Given the description of an element on the screen output the (x, y) to click on. 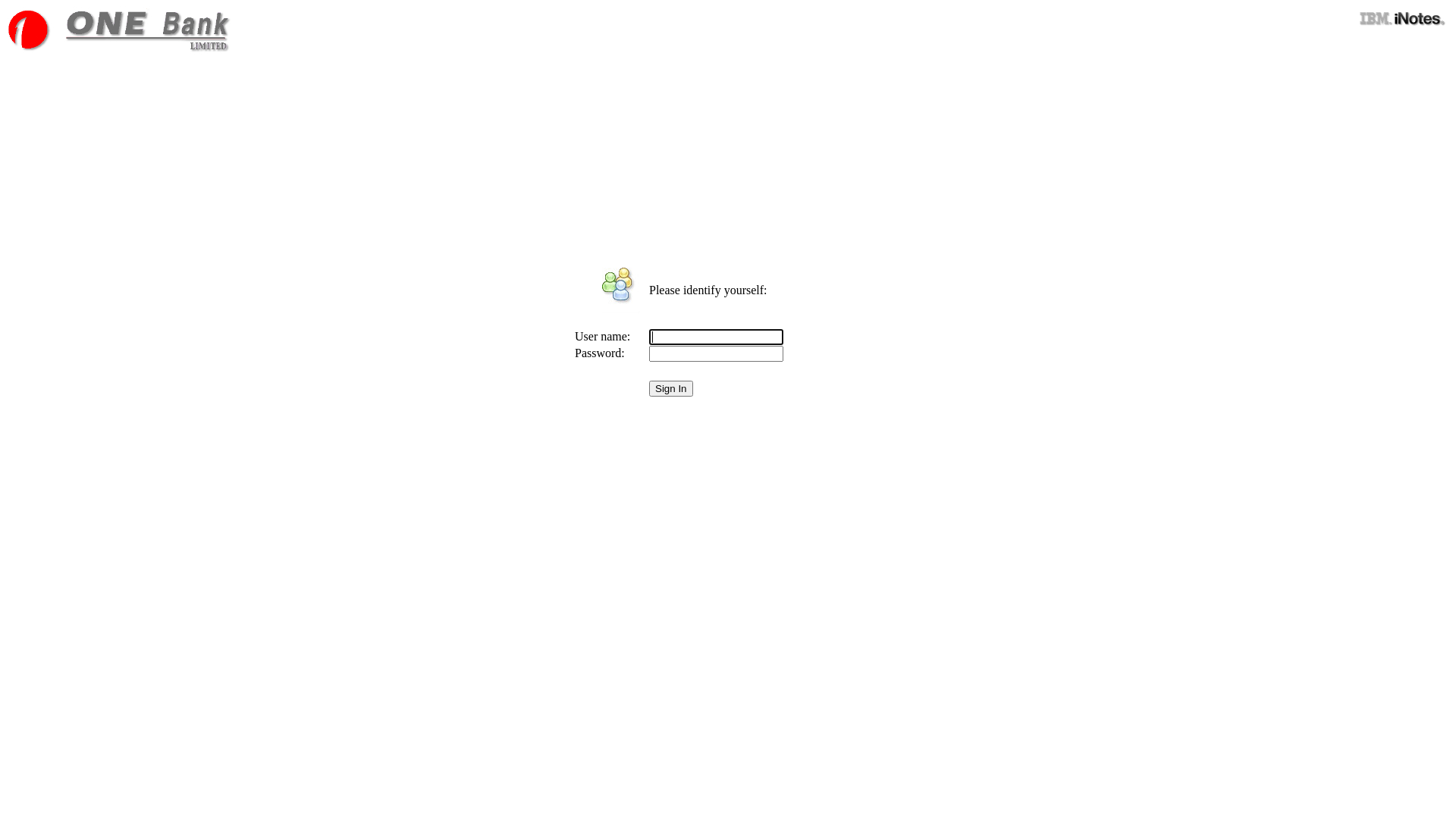
Sign In Element type: text (671, 388)
